Given the description of an element on the screen output the (x, y) to click on. 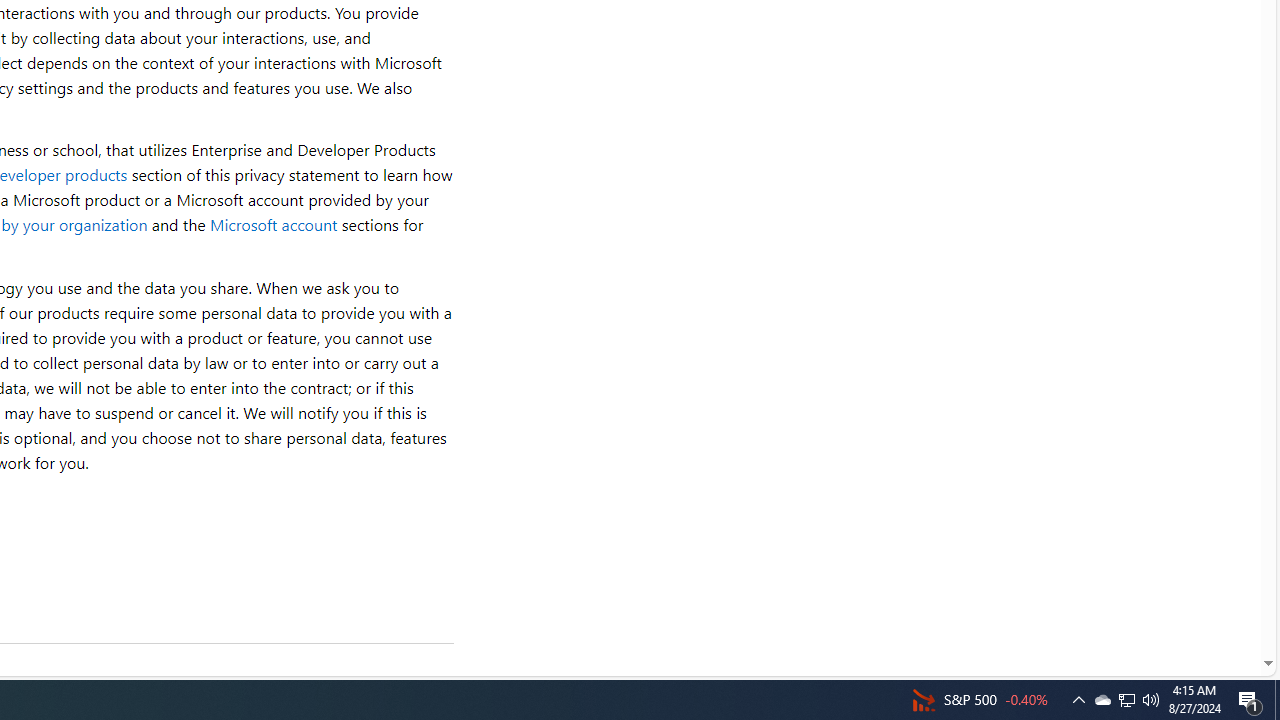
Microsoft account (273, 224)
